Given the description of an element on the screen output the (x, y) to click on. 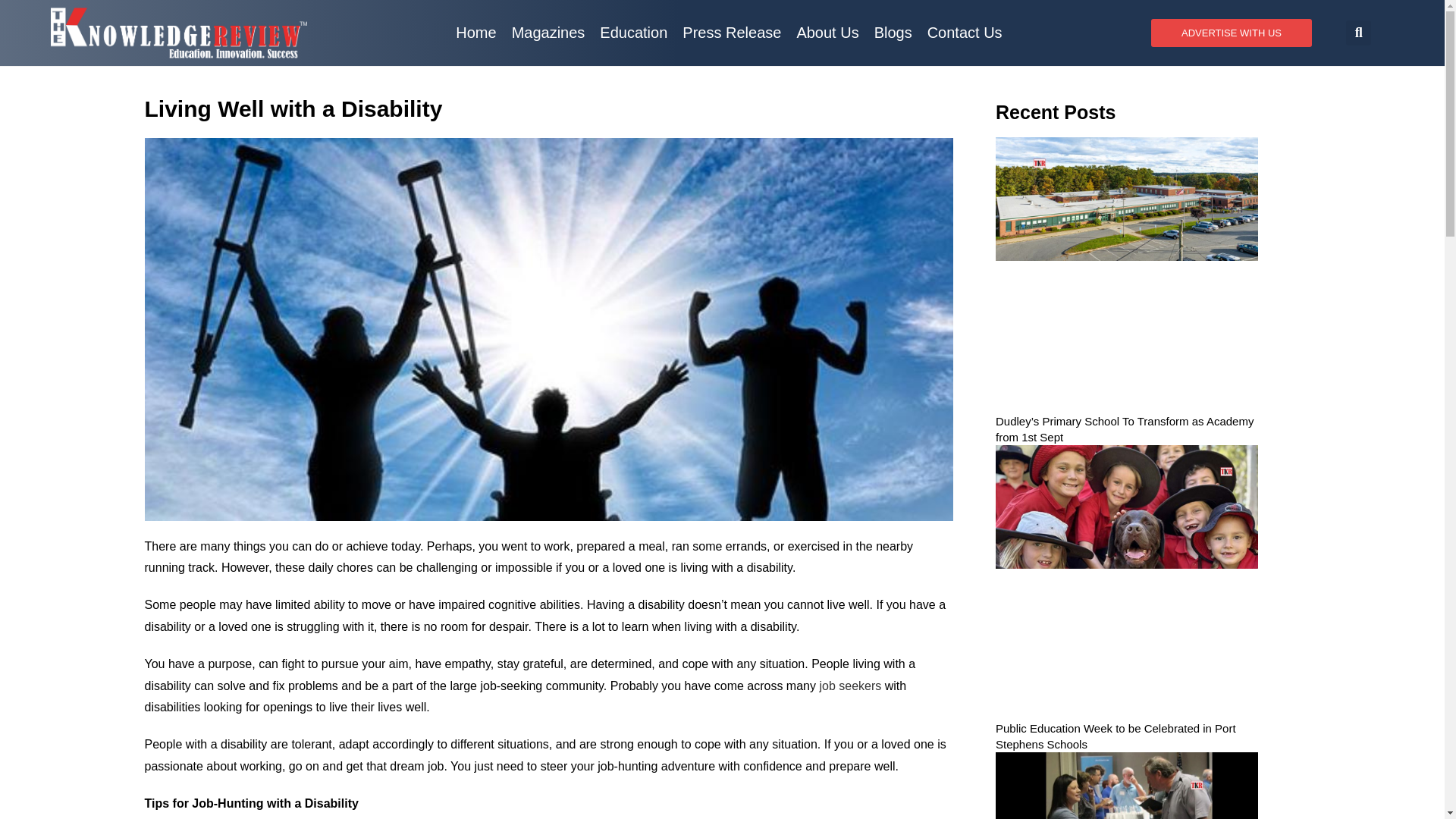
Home (475, 32)
Blogs (893, 32)
ADVERTISE WITH US (1232, 32)
Press Release (732, 32)
Contact Us (965, 32)
About Us (827, 32)
job seekers (849, 685)
Magazines (547, 32)
Education (633, 32)
